Given the description of an element on the screen output the (x, y) to click on. 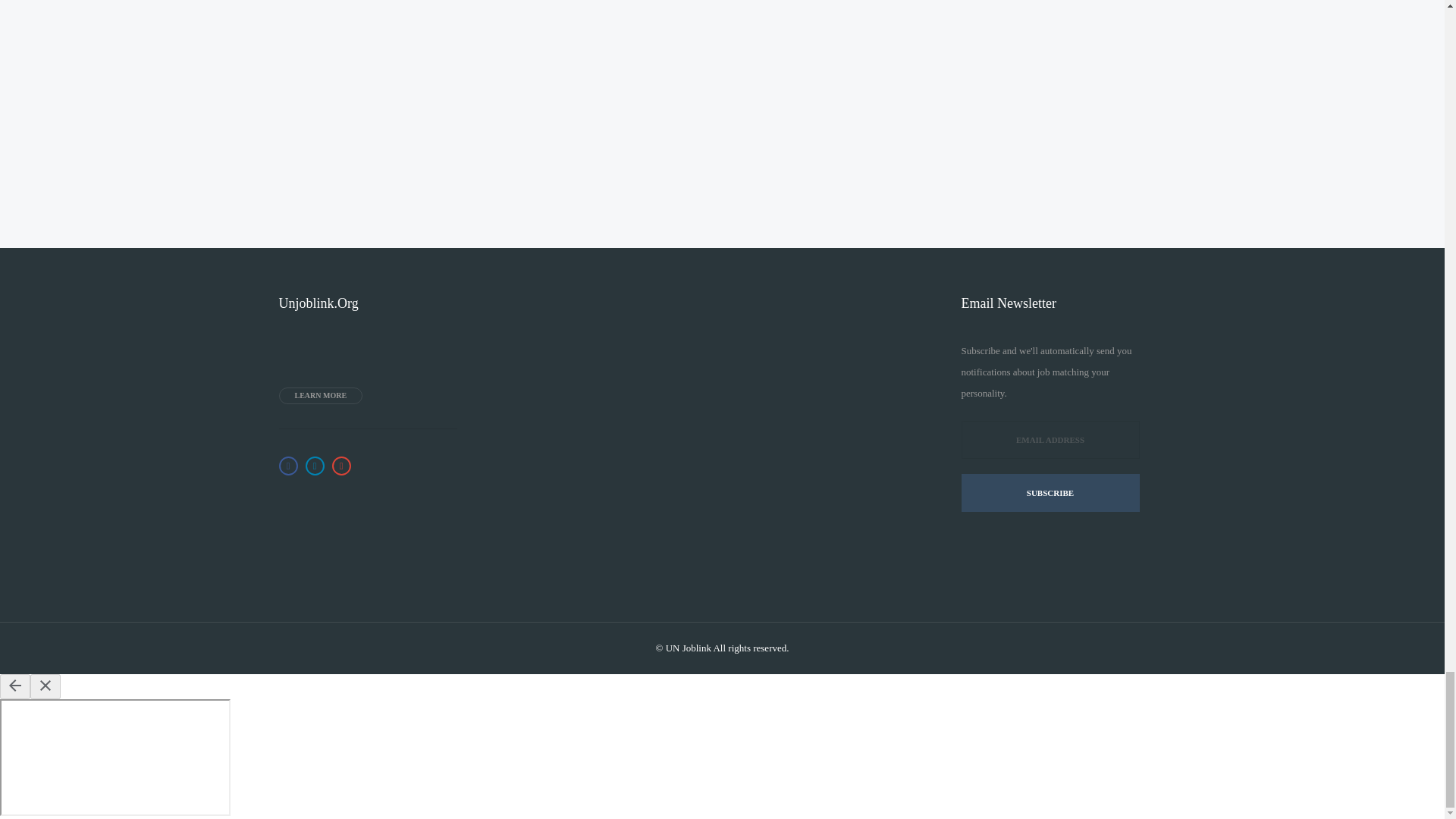
Facebook (288, 465)
Twitter (313, 465)
Google Plush (340, 465)
